Given the description of an element on the screen output the (x, y) to click on. 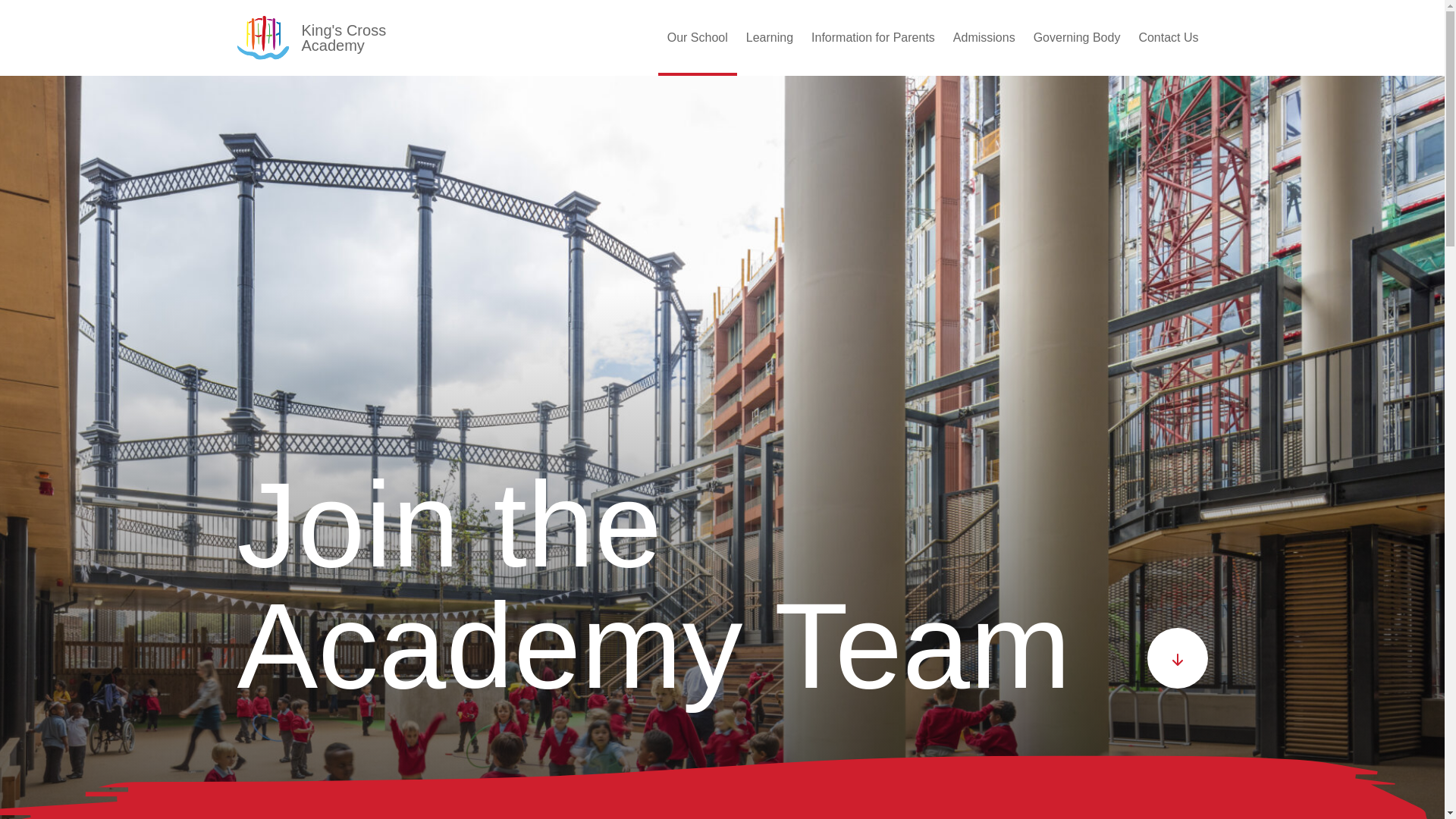
Governing Body (1077, 37)
Our School (697, 37)
Admissions (984, 37)
King's Cross Academy (347, 37)
Learning (769, 37)
Contact Us (1168, 37)
Information for Parents (872, 37)
